Given the description of an element on the screen output the (x, y) to click on. 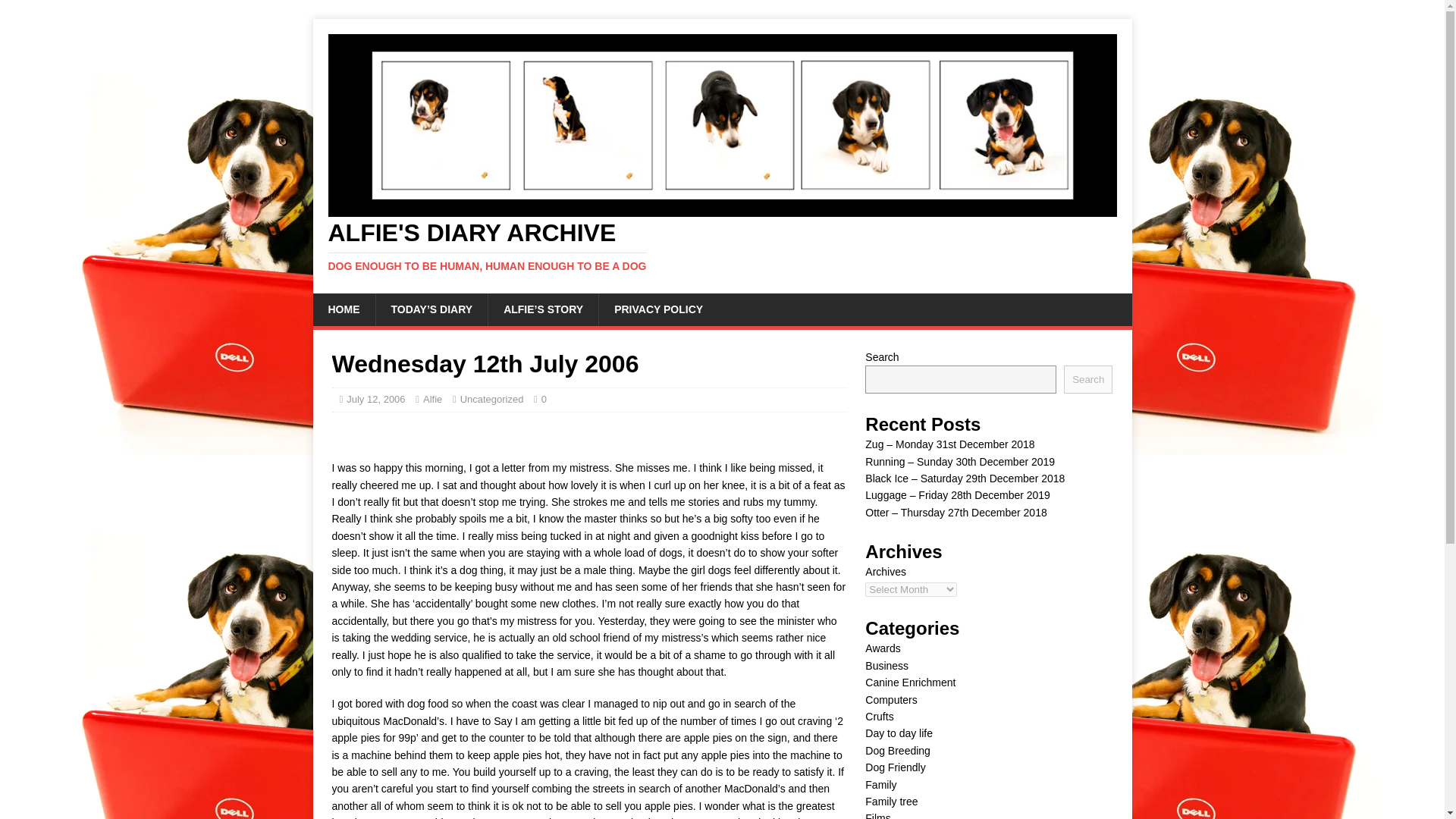
Films (876, 815)
Uncategorized (492, 398)
Dog Friendly (894, 767)
Day to day life (898, 733)
Awards (881, 648)
Crufts (878, 716)
PRIVACY POLICY (657, 309)
Canine Enrichment (909, 682)
Dog Breeding (897, 750)
Computers (890, 699)
